Given the description of an element on the screen output the (x, y) to click on. 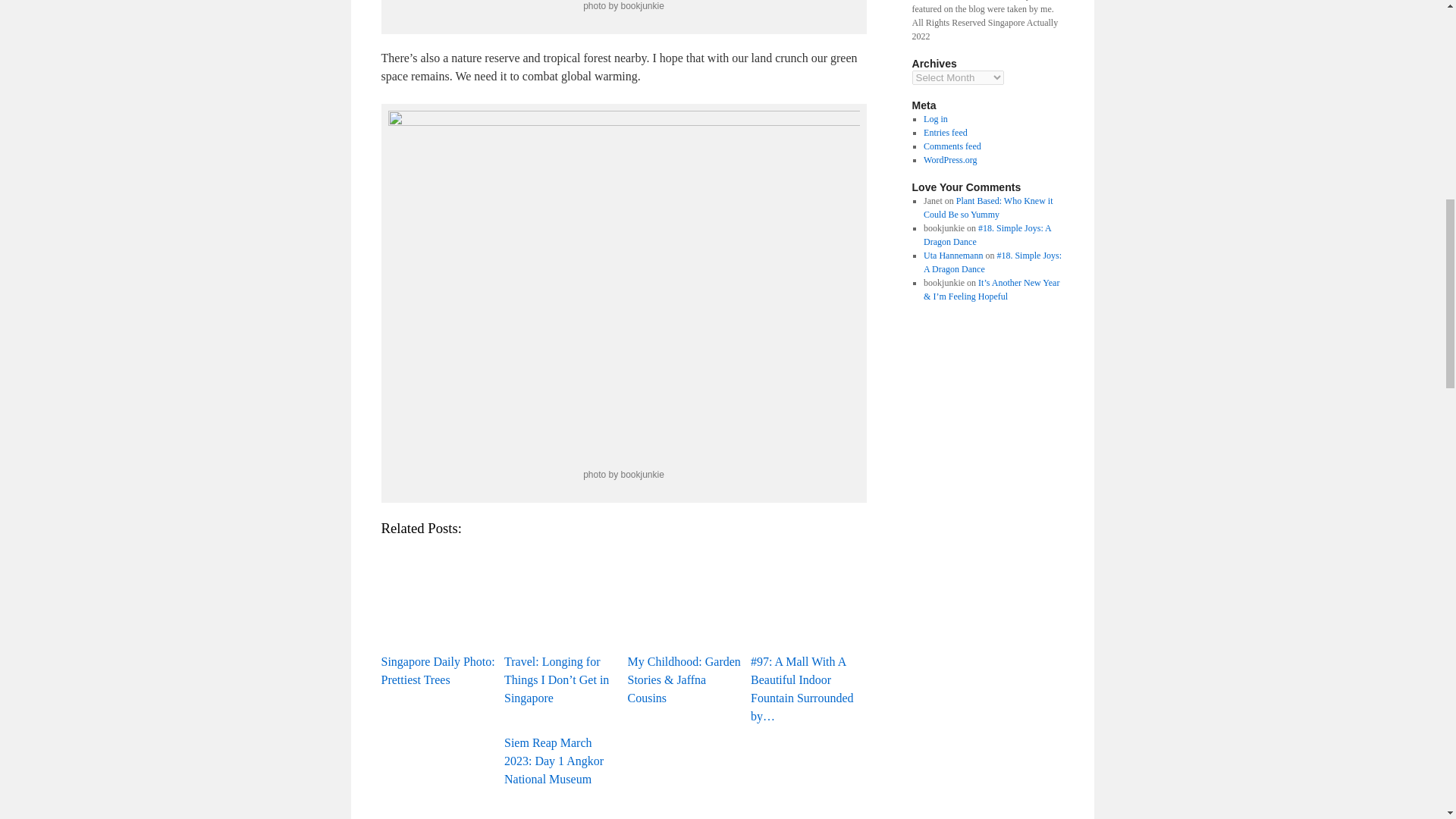
Siem Reap March 2023: Day 1 Angkor National Museum (561, 760)
Singapore Daily Photo: Prettiest Trees (438, 613)
Singapore Daily Photo: Prettiest Trees (438, 595)
